Given the description of an element on the screen output the (x, y) to click on. 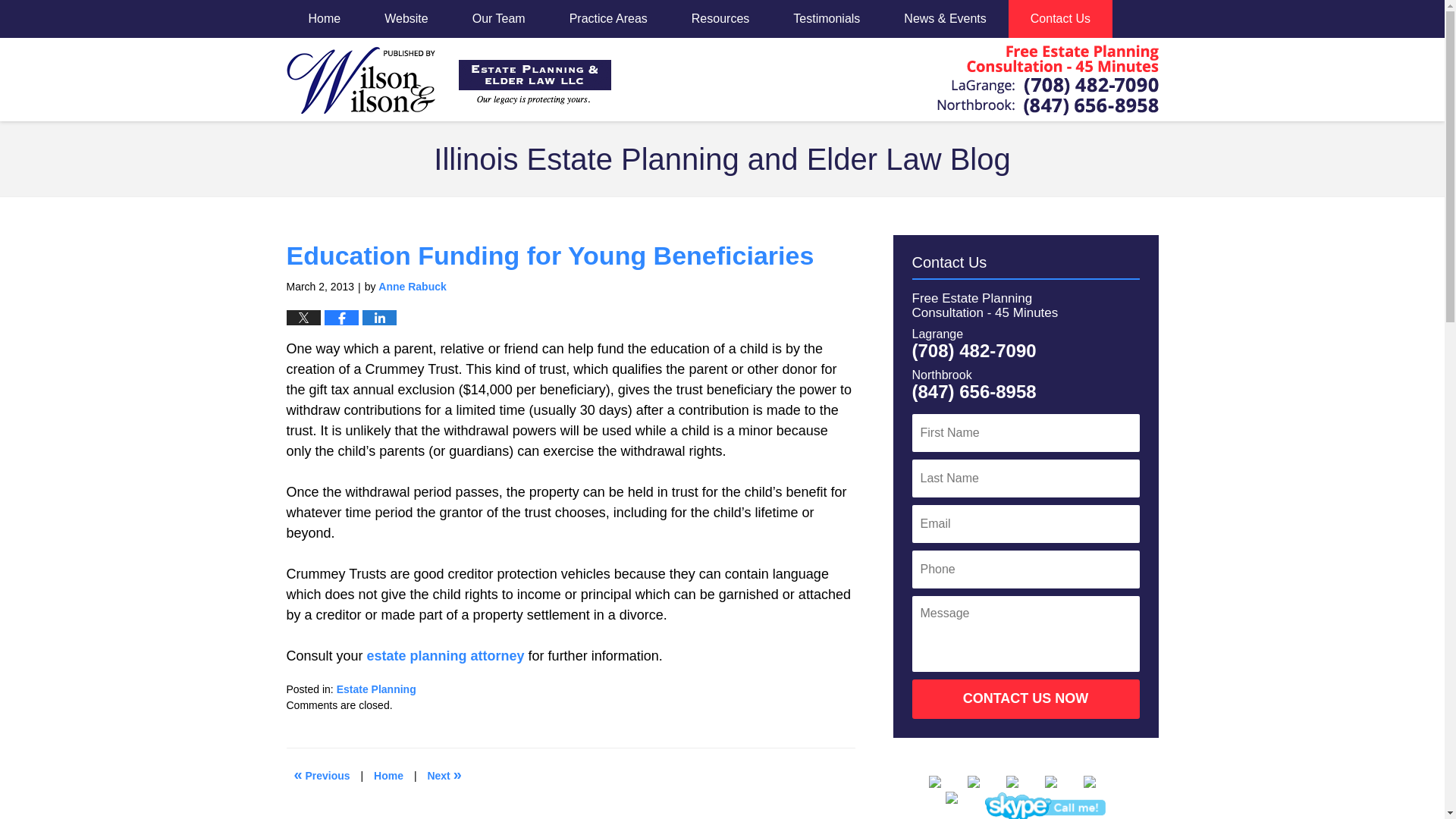
Our Team (498, 18)
Estate Planning and Charitable Remainder Trusts (443, 775)
WeChat (1044, 805)
LinkedIn (1023, 781)
Resources (720, 18)
Home (388, 775)
Please enter a valid phone number. (1024, 569)
Contact Us (1060, 18)
Twitter (985, 781)
YouTube (1100, 781)
